Given the description of an element on the screen output the (x, y) to click on. 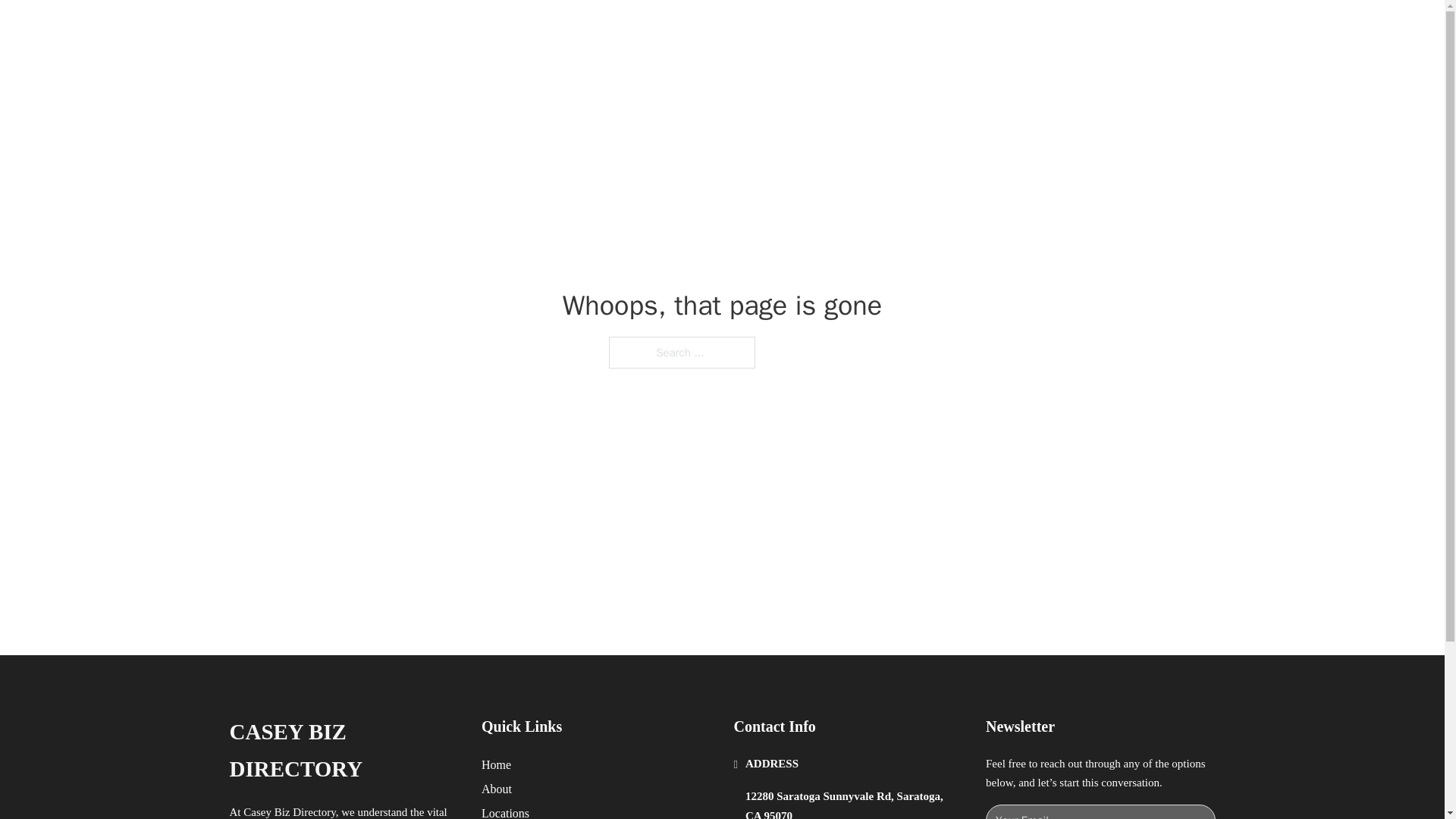
About (496, 788)
CASEY BIZ DIRECTORY (422, 28)
CASEY BIZ DIRECTORY (343, 750)
Home (496, 764)
Locations (505, 811)
